Given the description of an element on the screen output the (x, y) to click on. 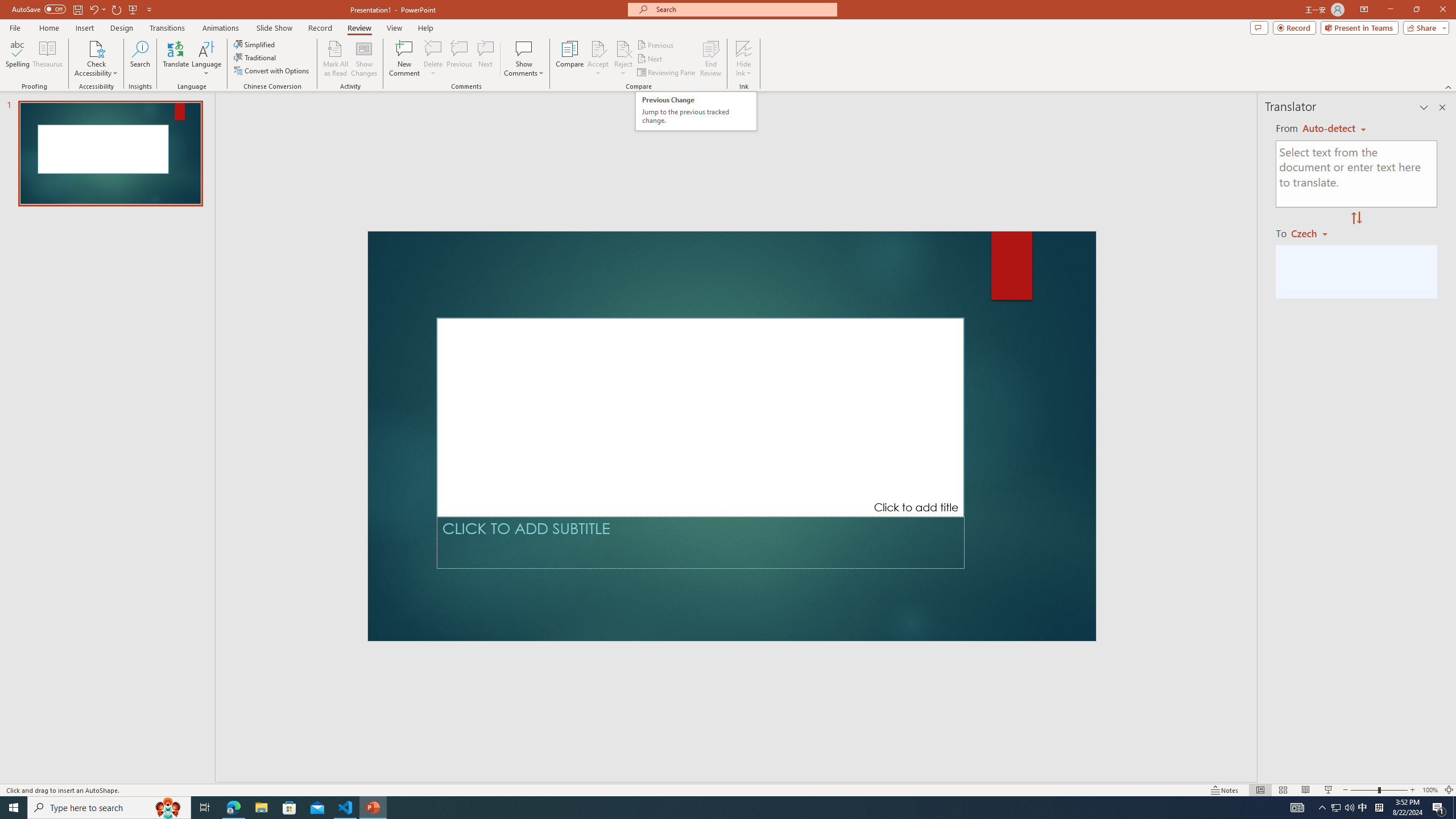
Reviewing Pane (666, 72)
Mark All as Read (335, 58)
Reject Change (622, 48)
